Given the description of an element on the screen output the (x, y) to click on. 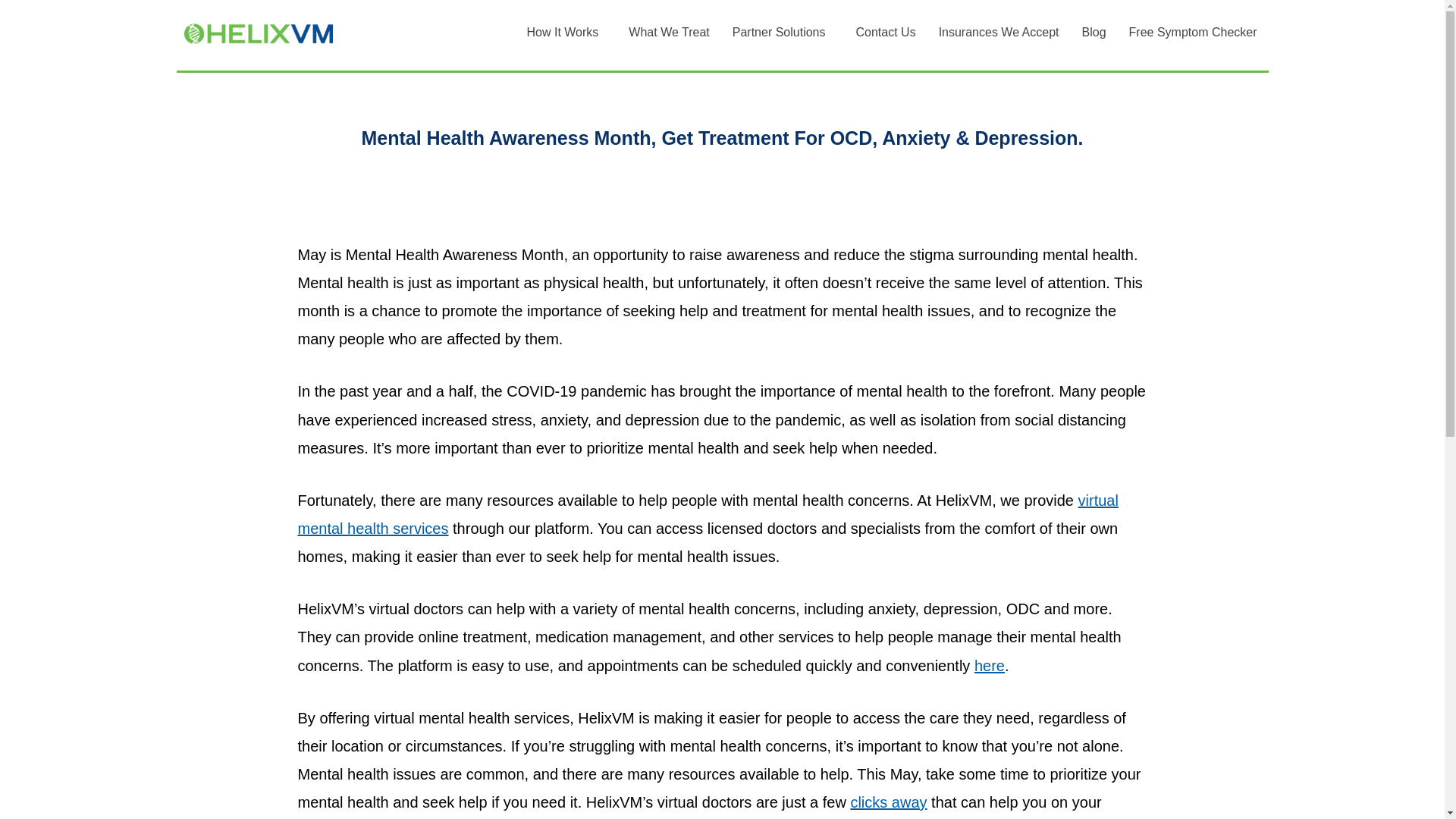
Contact Us (885, 32)
Partner Solutions (782, 32)
Insurances We Accept (998, 32)
here (989, 665)
How It Works (566, 32)
virtual mental health services (707, 514)
Free Symptom Checker (1193, 32)
Blog (1094, 32)
What We Treat (668, 32)
clicks away (888, 801)
